Given the description of an element on the screen output the (x, y) to click on. 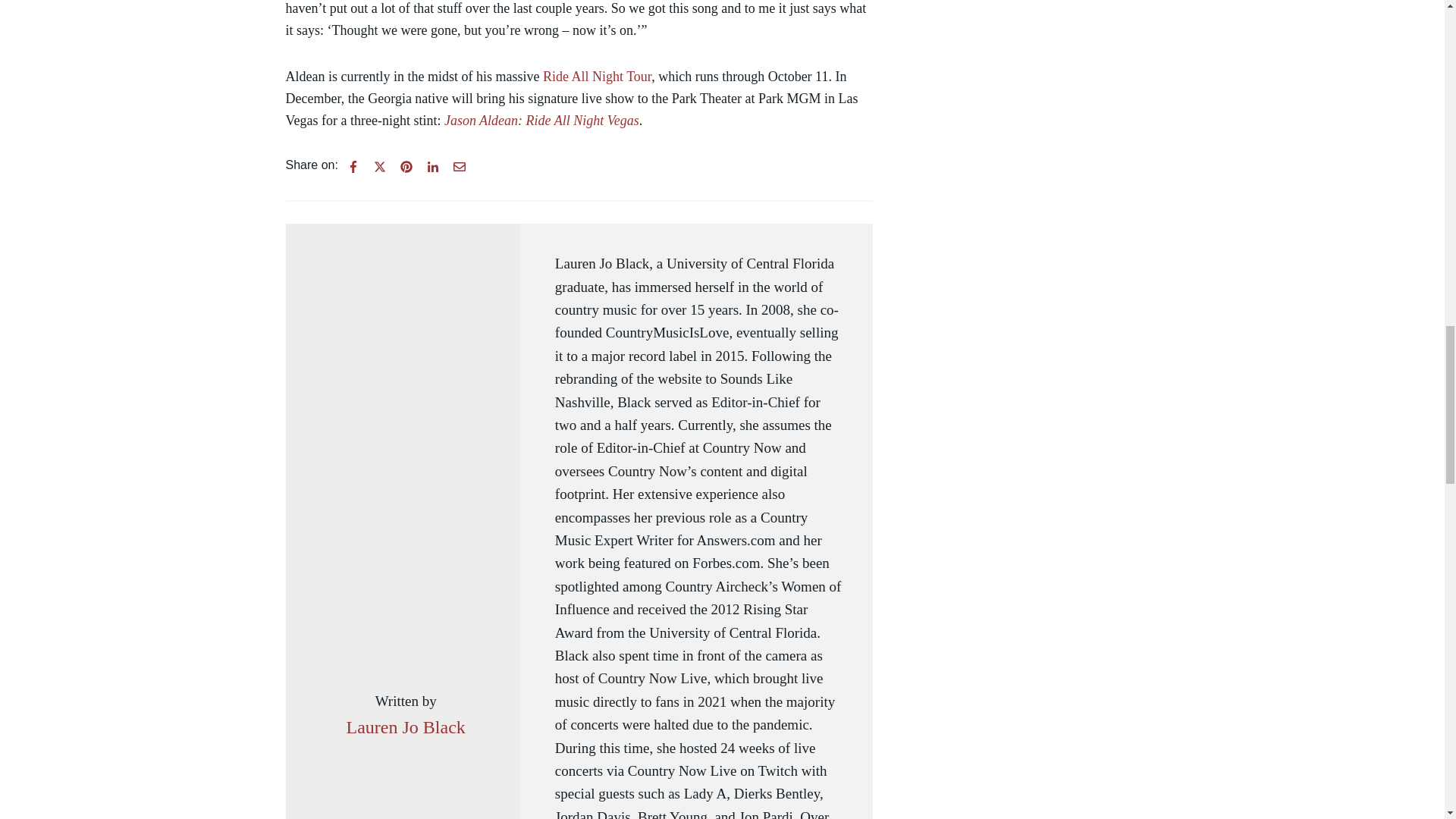
Jason Aldean: Ride All Night Vegas (541, 119)
Ride All Night Tour (596, 76)
